Given the description of an element on the screen output the (x, y) to click on. 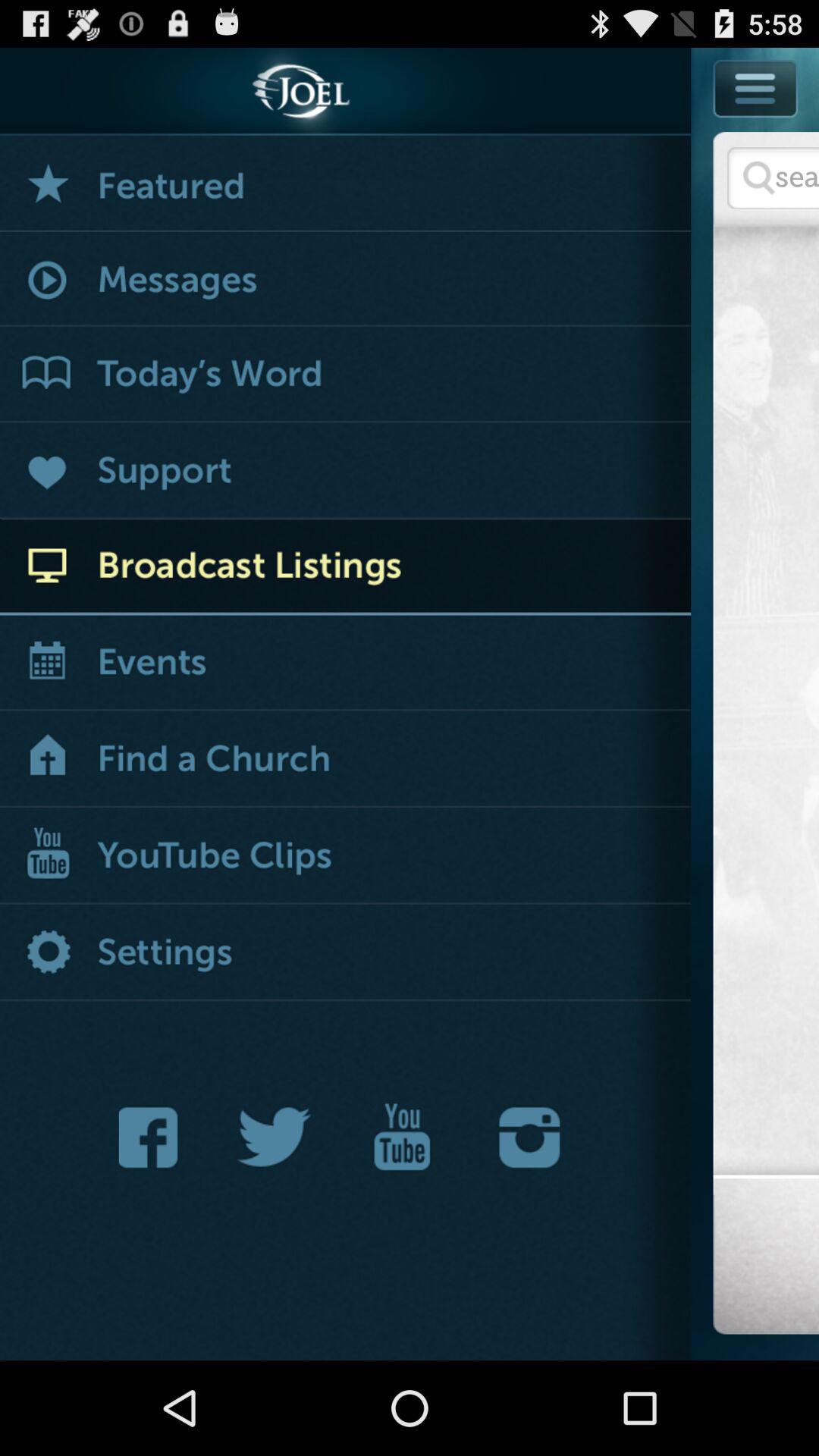
go to broadcast listings (345, 566)
